Given the description of an element on the screen output the (x, y) to click on. 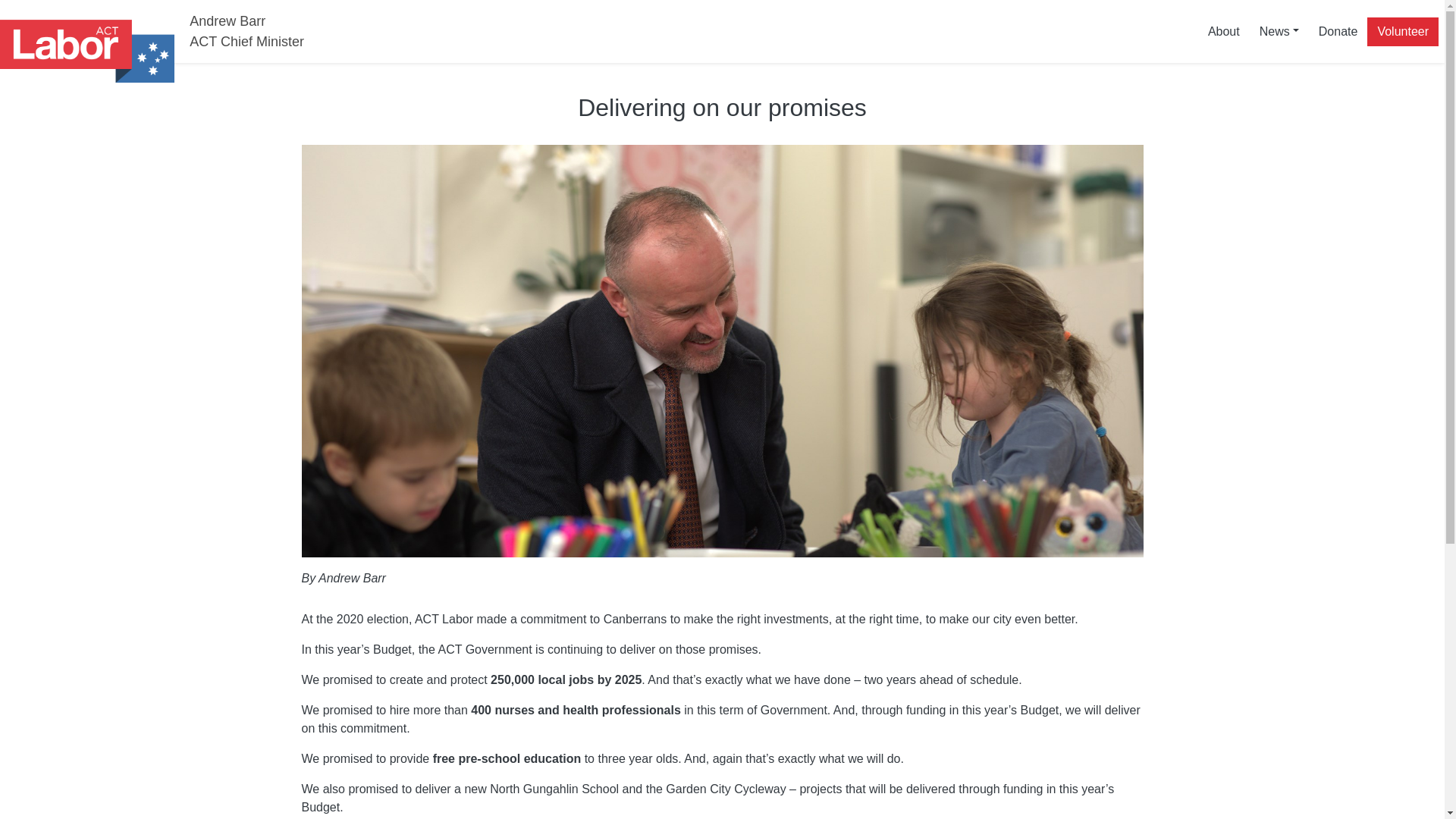
Donate (1338, 30)
News (1278, 30)
Volunteer (1402, 30)
About (1223, 30)
